Given the description of an element on the screen output the (x, y) to click on. 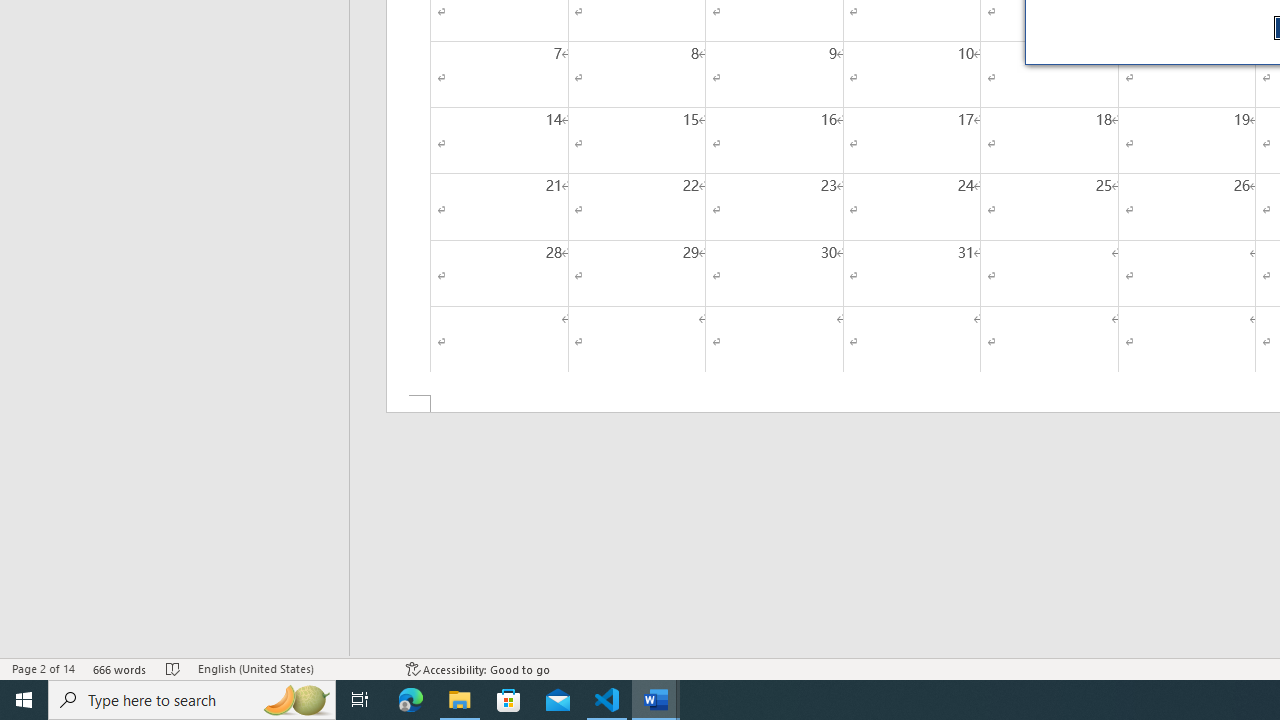
Spelling and Grammar Check No Errors (173, 668)
